Given the description of an element on the screen output the (x, y) to click on. 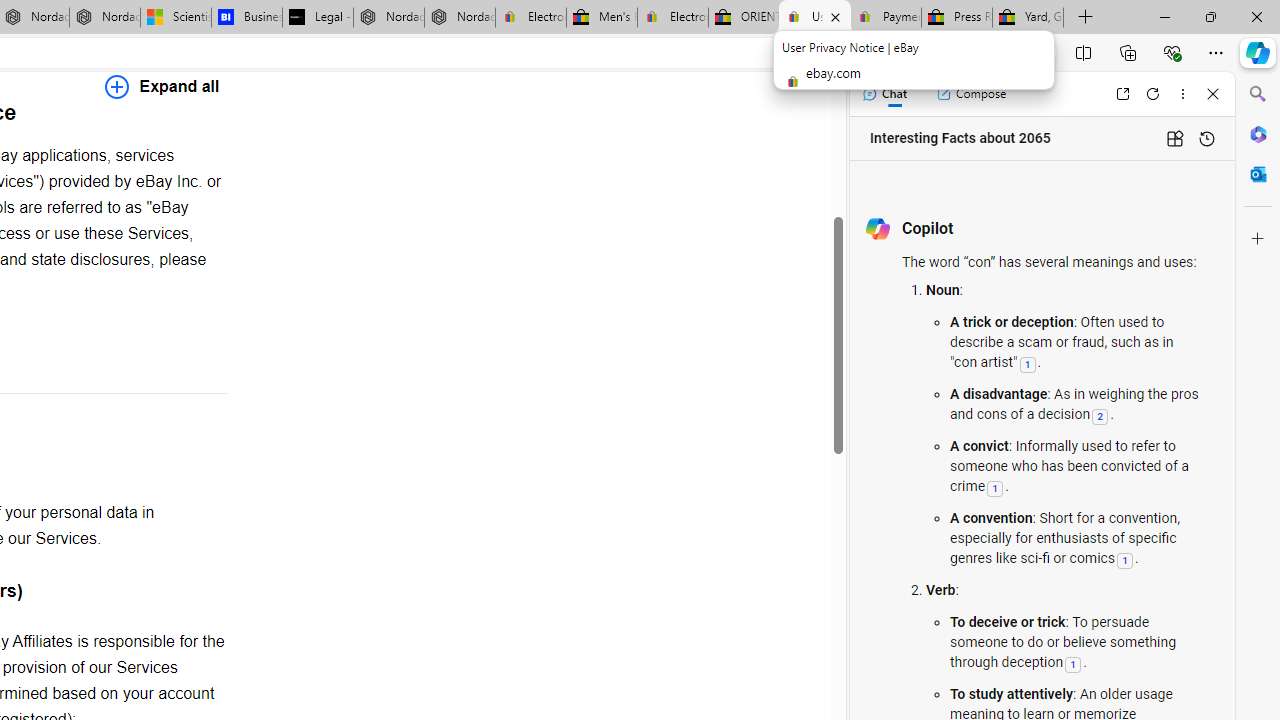
Payments Terms of Use | eBay.com (886, 17)
Shopping in Microsoft Edge (910, 53)
Enter Immersive Reader (F9) (991, 53)
Nordace - Summer Adventures 2024 (388, 17)
